Given the description of an element on the screen output the (x, y) to click on. 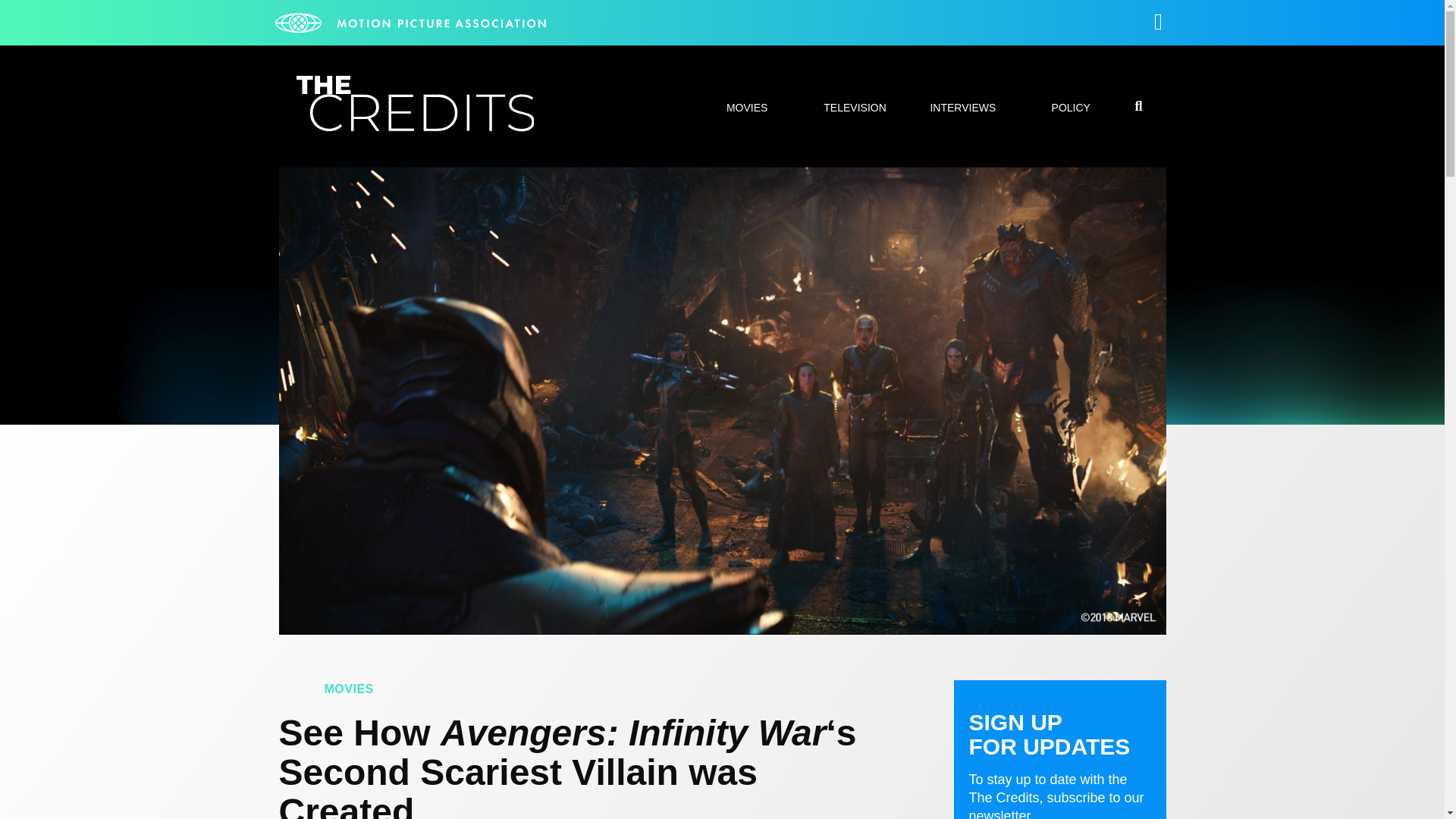
Search (1077, 408)
